Given the description of an element on the screen output the (x, y) to click on. 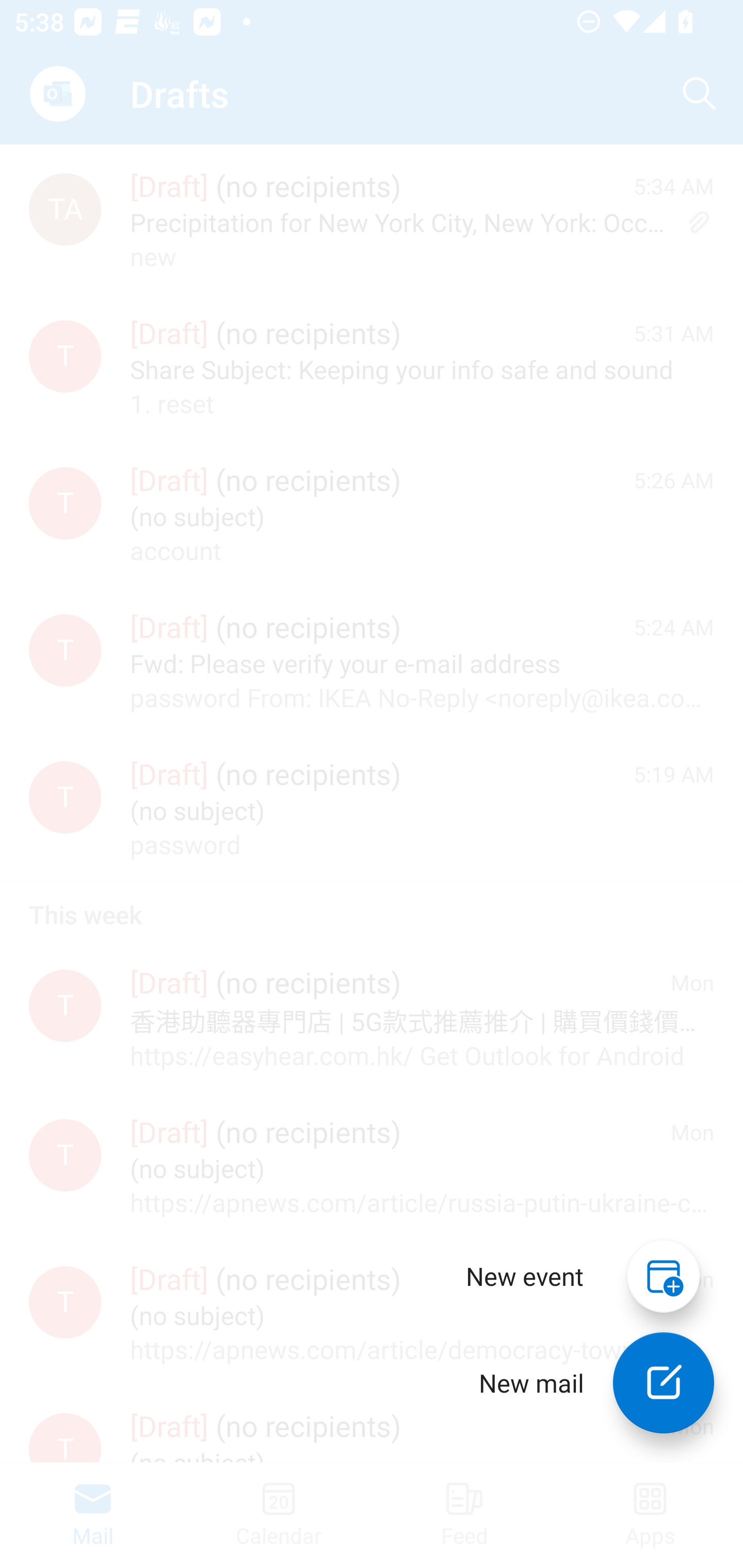
New event (524, 1275)
New mail New mail New mail (582, 1382)
New mail (663, 1382)
